Given the description of an element on the screen output the (x, y) to click on. 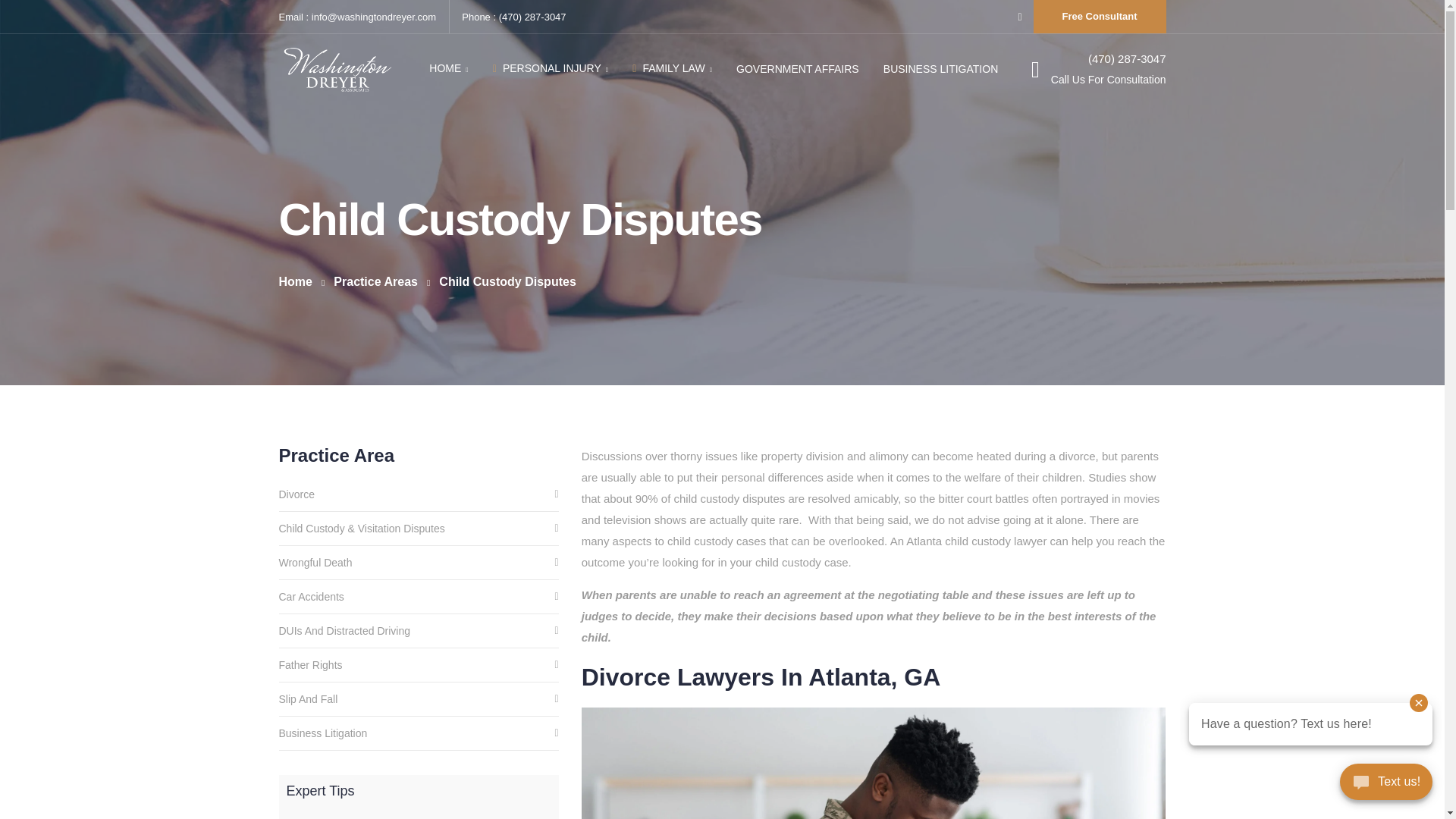
HOME (419, 796)
FAMILY LAW (448, 68)
Free Consultant (671, 68)
PERSONAL INJURY (1099, 16)
